Given the description of an element on the screen output the (x, y) to click on. 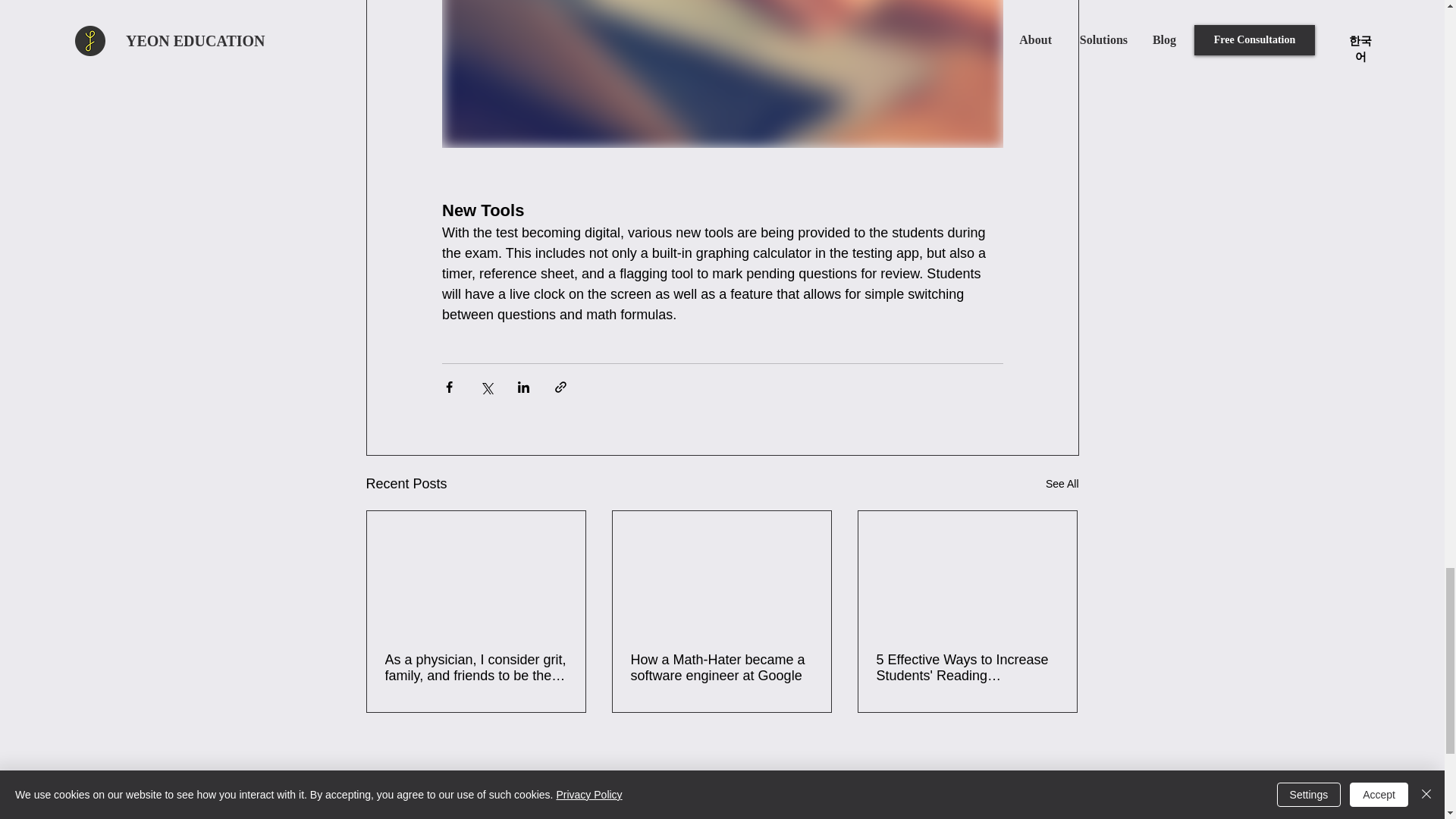
5 Effective Ways to Increase Students' Reading Comprehension (967, 667)
How a Math-Hater became a software engineer at Google (721, 667)
See All (1061, 484)
